Given the description of an element on the screen output the (x, y) to click on. 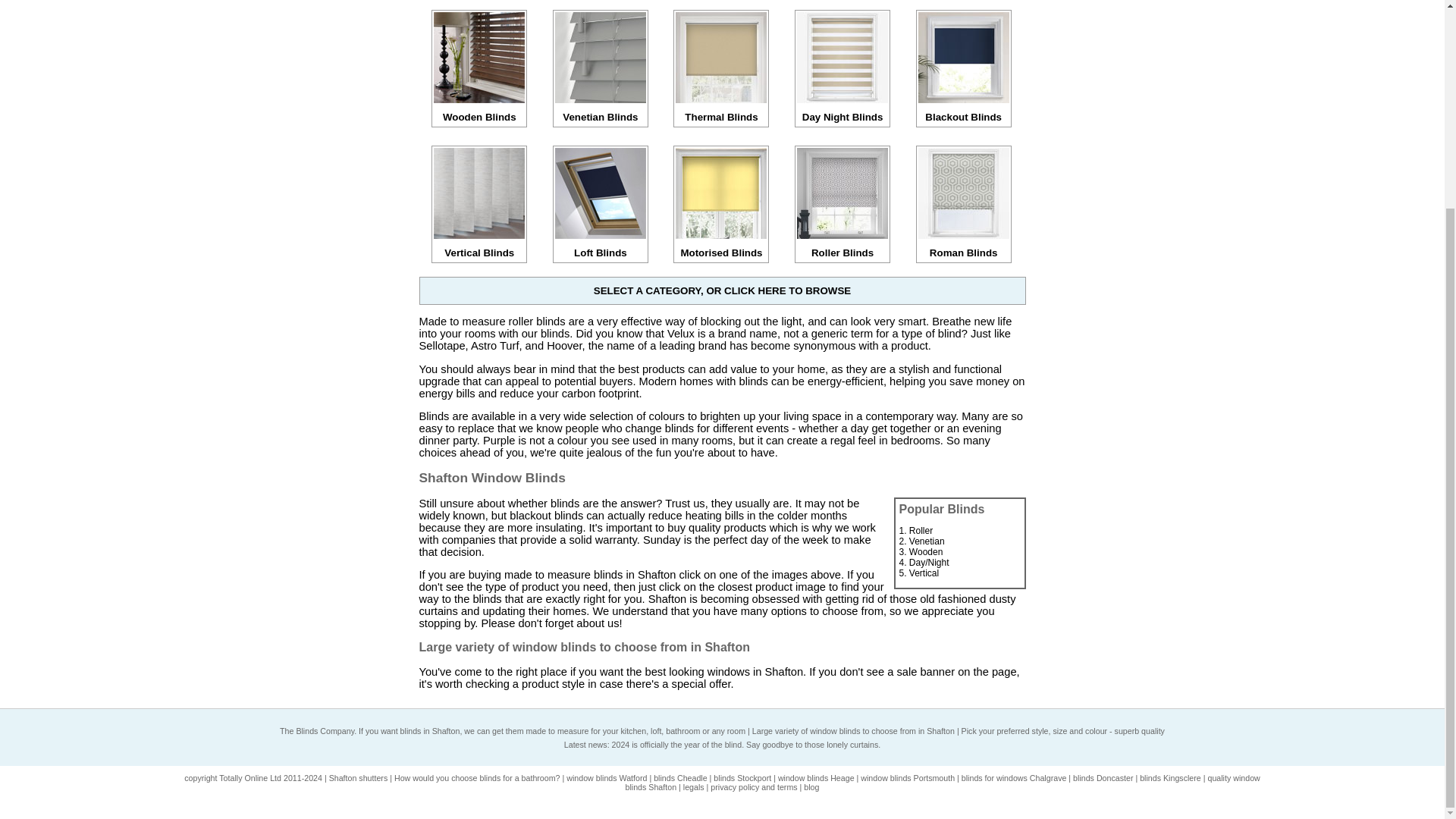
Vertical Blinds (478, 246)
Motorised Blinds (721, 246)
Day Night Blinds (842, 110)
Loft Blinds (600, 246)
Thermal Blinds (721, 110)
window blinds Watford (606, 777)
SELECT A CATEGORY, OR CLICK HERE TO BROWSE (722, 290)
Venetian Blinds (600, 110)
blinds Kingsclere (1170, 777)
Totally Online Ltd (250, 777)
